Given the description of an element on the screen output the (x, y) to click on. 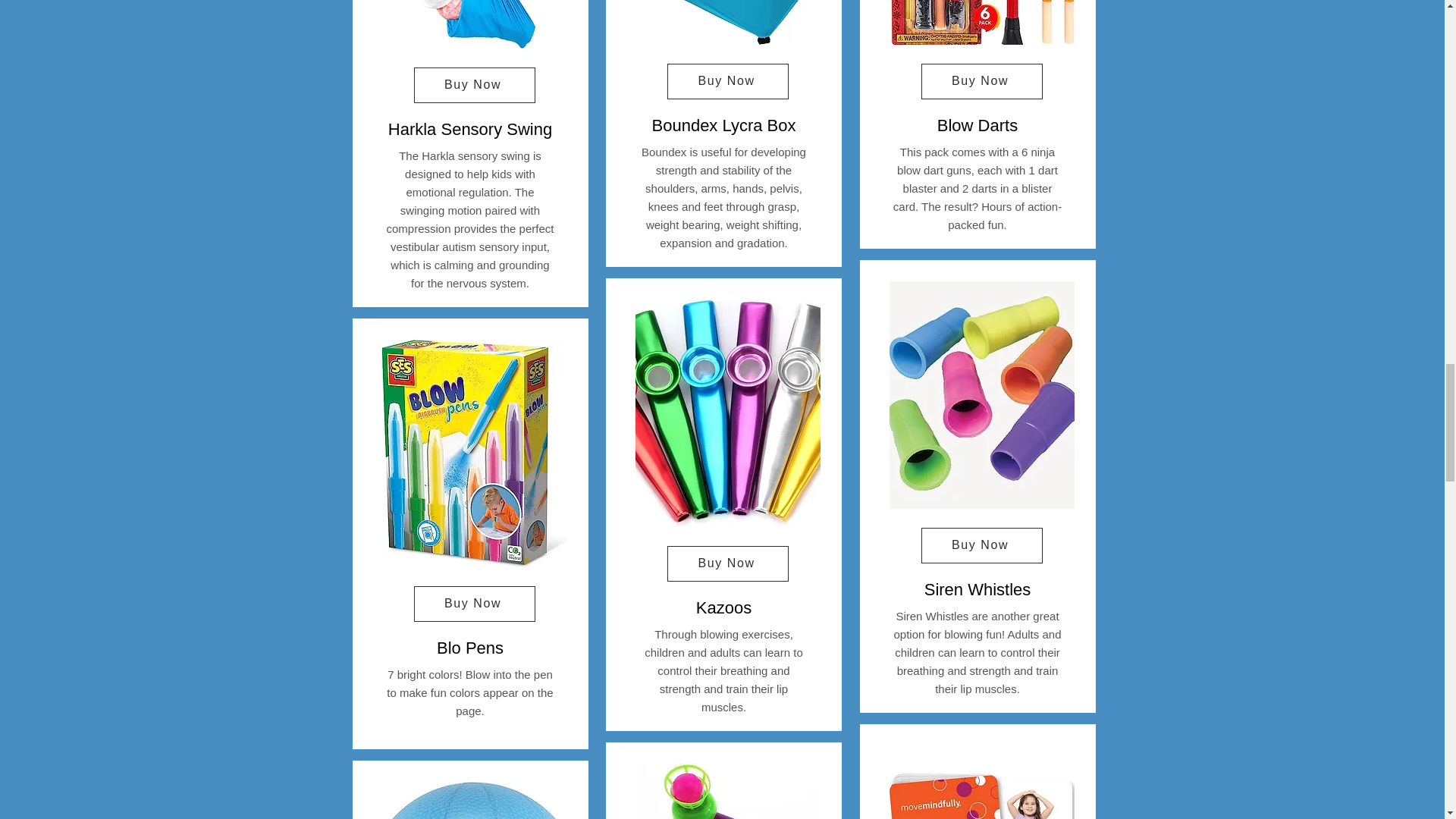
Floating Ball Pipe.jpg (727, 791)
Overball.jpg (474, 800)
Buy Now (474, 85)
Harkla Sensory Swing.jpg (474, 24)
Buy Now (474, 603)
Boundex Lycra Box.jpg (727, 22)
